Given the description of an element on the screen output the (x, y) to click on. 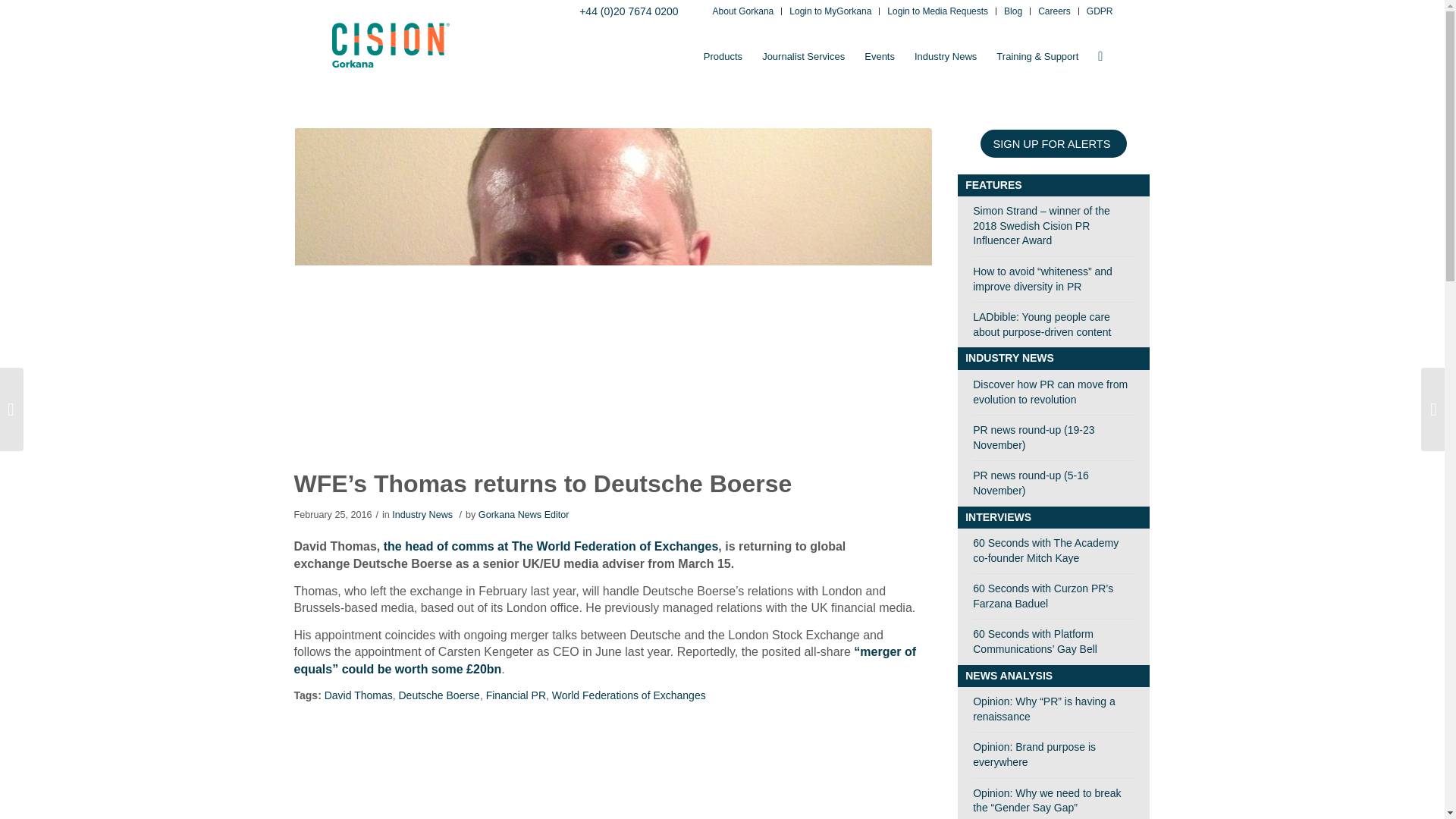
Journalist Services (803, 56)
Posts by Gorkana News Editor (524, 514)
Industry News (945, 56)
Login to MyGorkana (829, 12)
Login to Media Requests (937, 12)
GDPR (1099, 12)
Careers (1054, 12)
About Gorkana (743, 12)
